Given the description of an element on the screen output the (x, y) to click on. 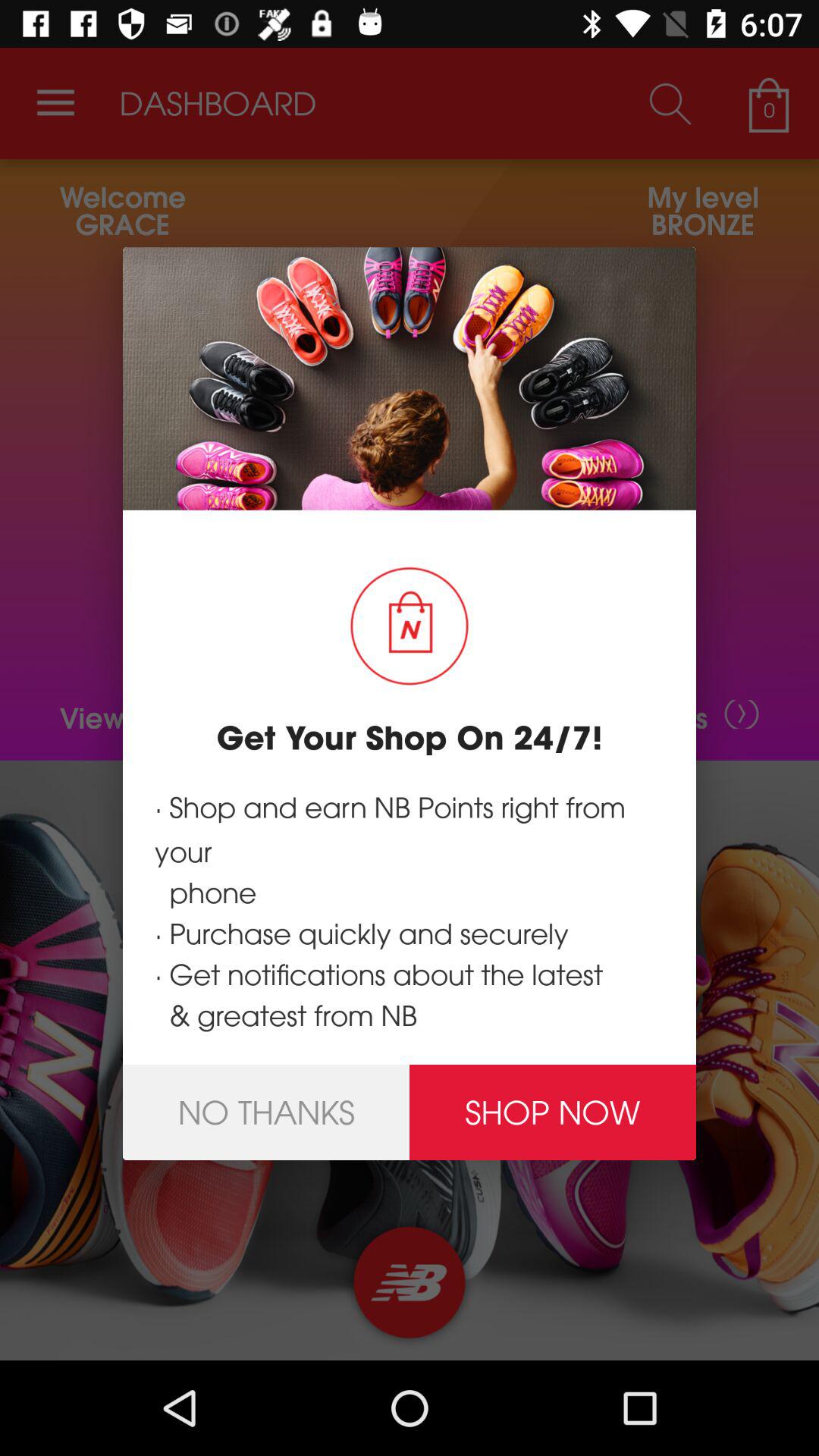
turn on item at the bottom left corner (265, 1112)
